Given the description of an element on the screen output the (x, y) to click on. 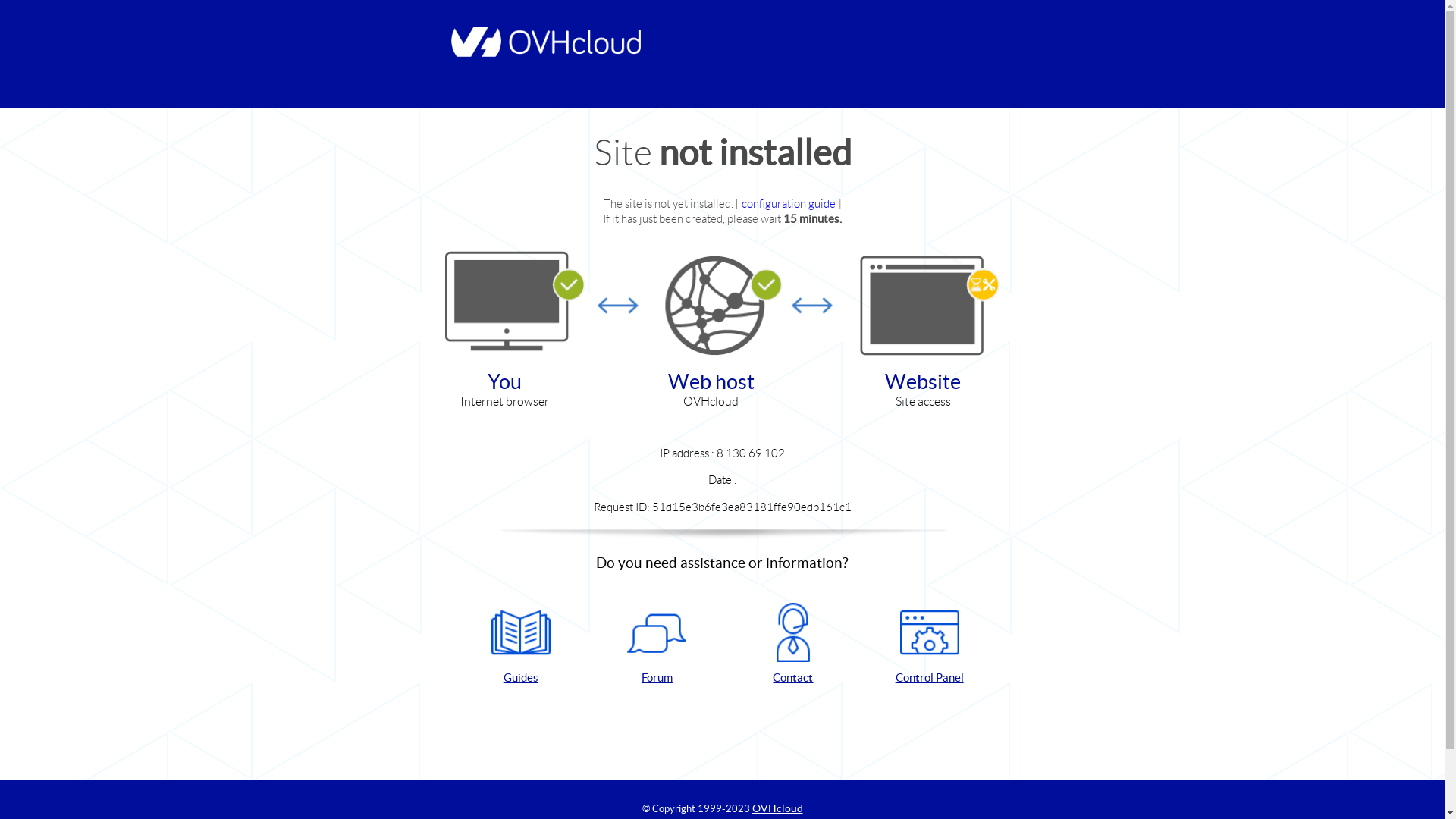
Control Panel Element type: text (929, 644)
Contact Element type: text (792, 644)
Forum Element type: text (656, 644)
OVHcloud Element type: text (777, 808)
configuration guide Element type: text (789, 203)
Guides Element type: text (520, 644)
